Given the description of an element on the screen output the (x, y) to click on. 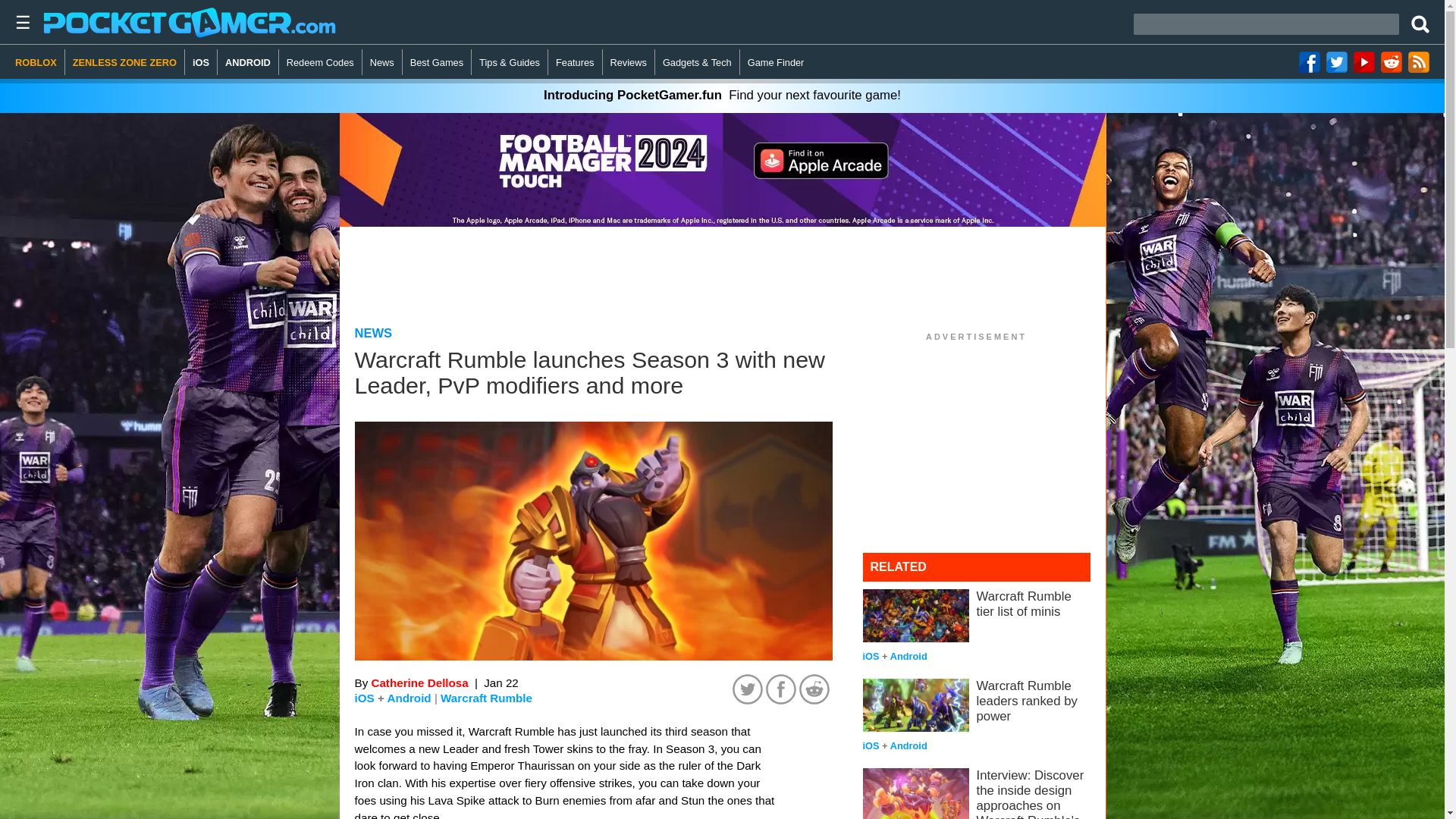
ROBLOX (39, 62)
ANDROID (247, 62)
Catherine Dellosa (419, 682)
Game Finder (775, 62)
Redeem Codes (320, 62)
Warcraft Rumble (486, 698)
Features (575, 62)
iOS (200, 62)
Best Games (437, 62)
News (382, 62)
ZENLESS ZONE ZERO (124, 62)
NEWS (374, 332)
Android (408, 697)
iOS (364, 697)
Reviews (628, 62)
